Given the description of an element on the screen output the (x, y) to click on. 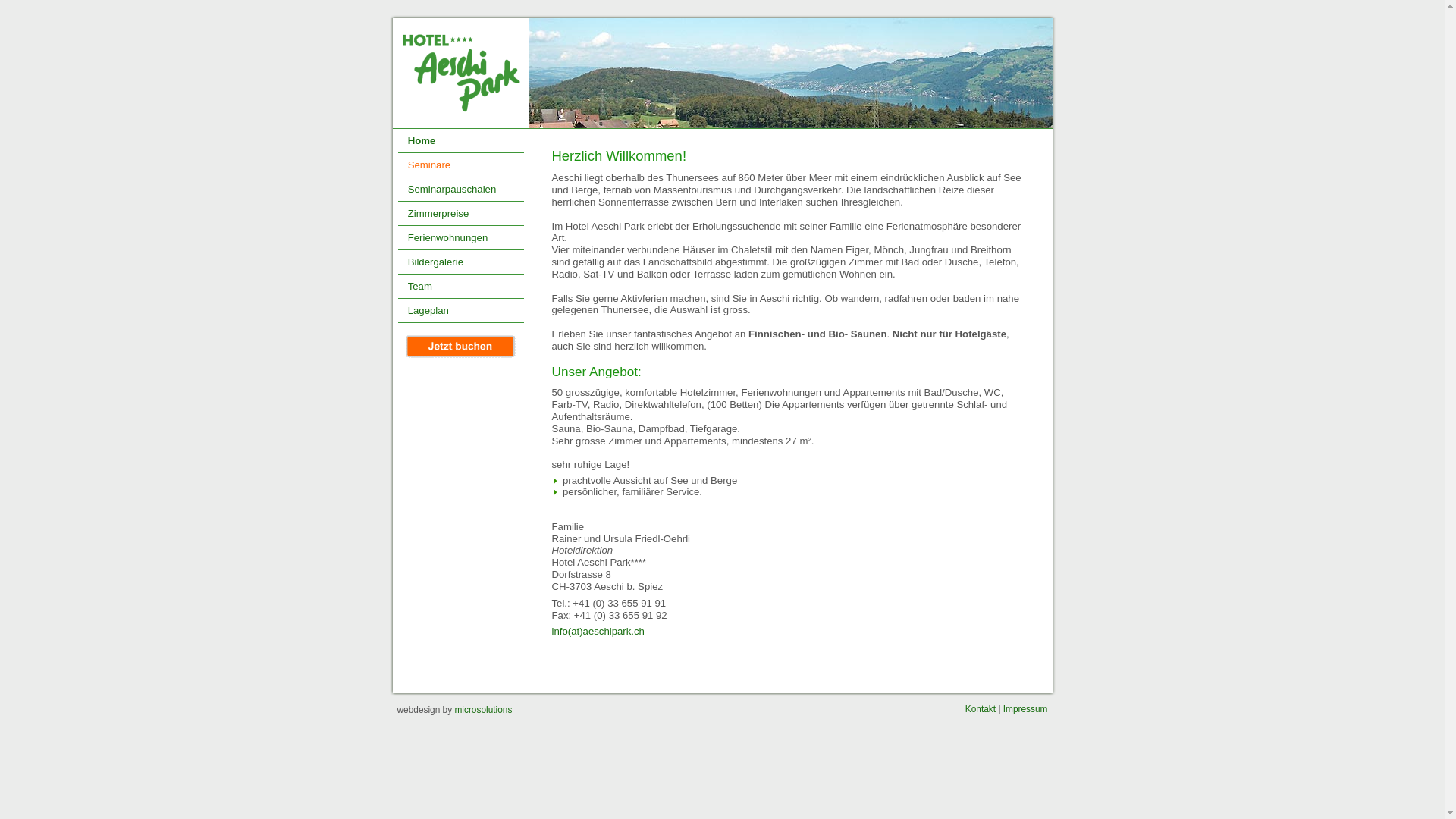
Team Element type: text (460, 286)
info(at)aeschipark.ch Element type: text (598, 631)
Bildergalerie Element type: text (460, 262)
Zimmerpreise Element type: text (460, 213)
Lageplan Element type: text (460, 310)
Home Element type: text (460, 140)
Ferienwohnungen Element type: text (460, 237)
Seminare Element type: text (460, 165)
Kontakt Element type: text (980, 708)
Seminarpauschalen Element type: text (460, 189)
Impressum Element type: text (1025, 708)
microsolutions Element type: text (482, 709)
